Given the description of an element on the screen output the (x, y) to click on. 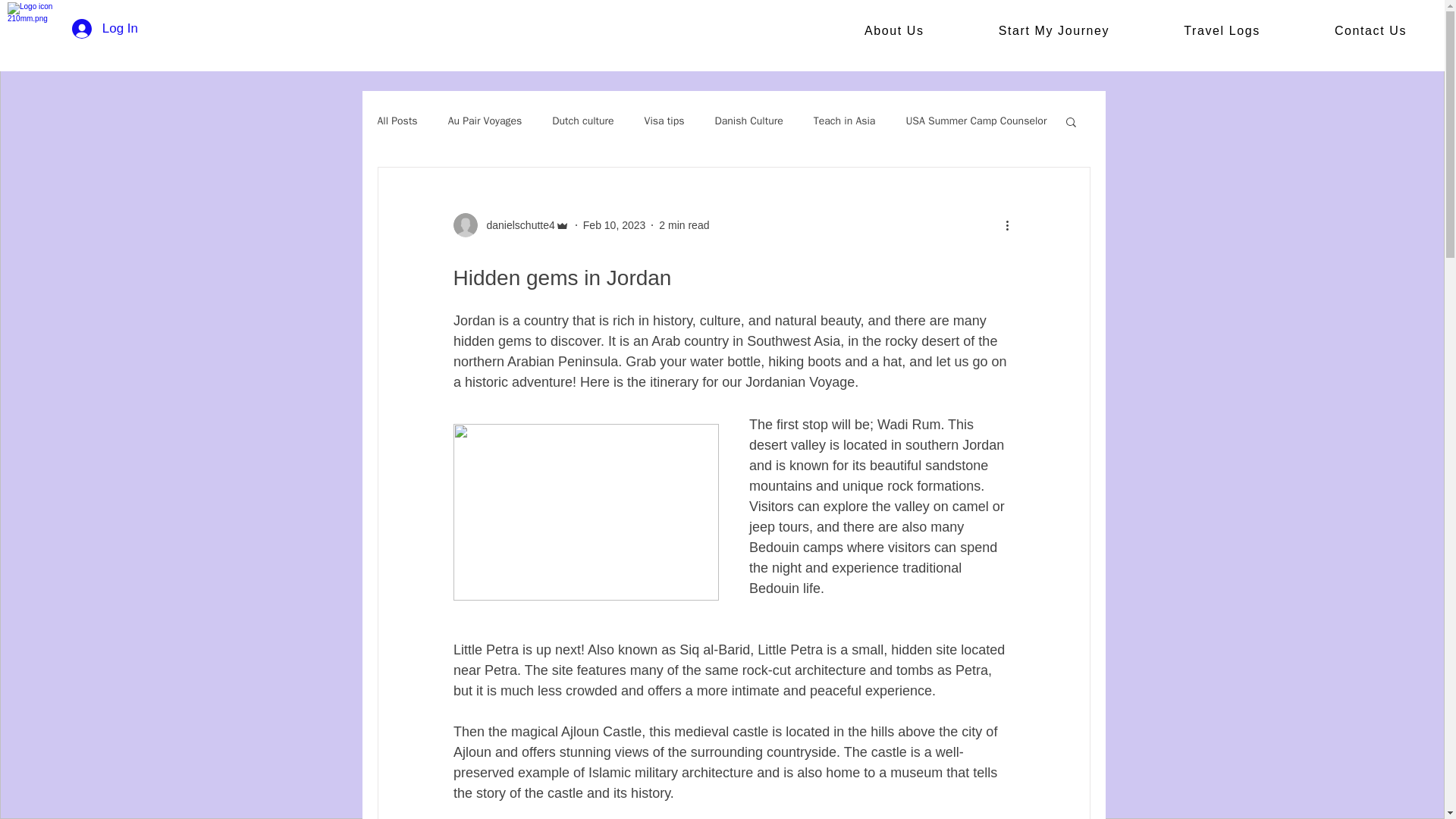
2 min read (684, 224)
danielschutte4 (515, 224)
Log In (104, 28)
Feb 10, 2023 (614, 224)
